Given the description of an element on the screen output the (x, y) to click on. 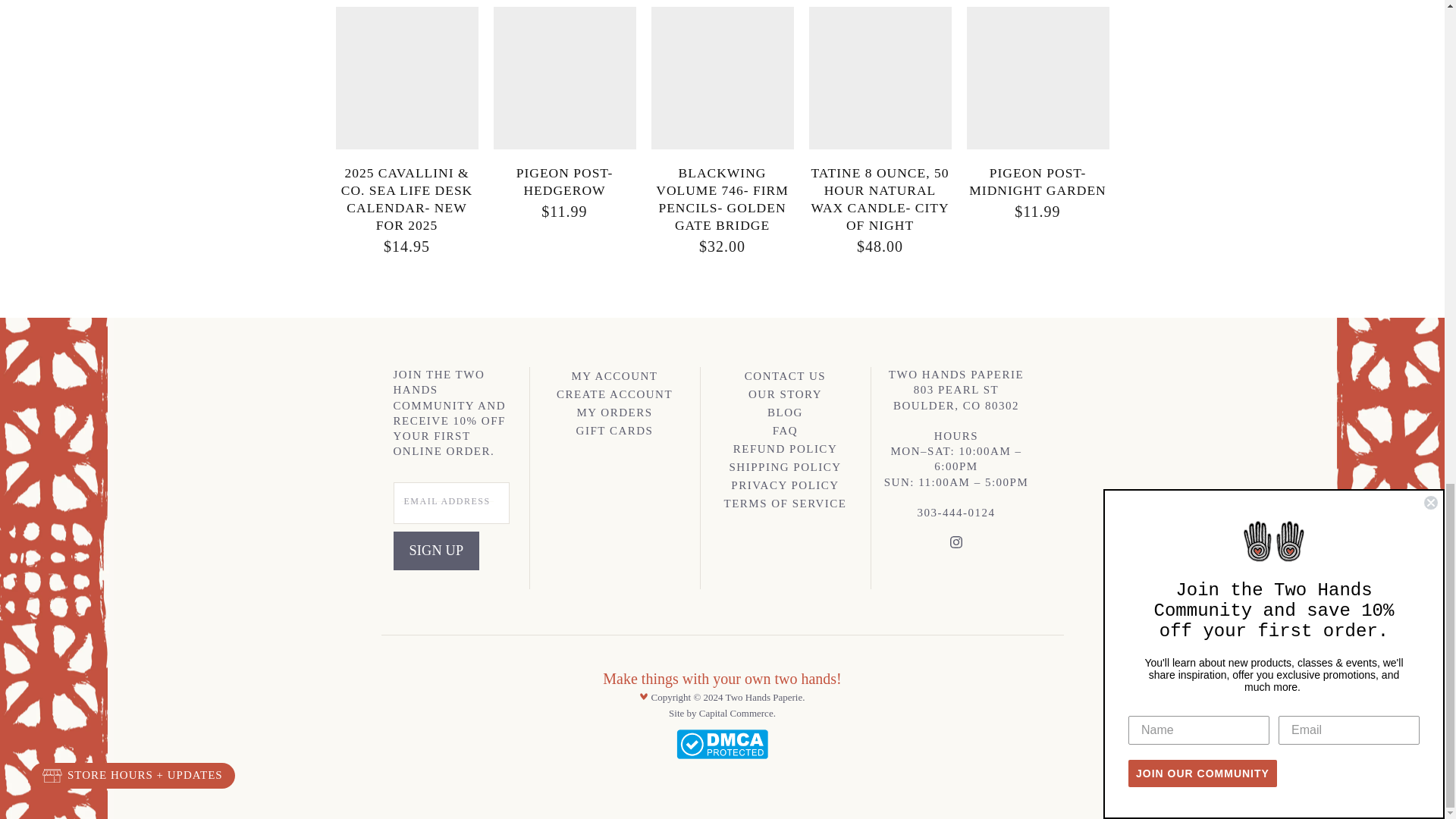
Instagram (955, 544)
DMCA.com Protection Status (722, 755)
